Given the description of an element on the screen output the (x, y) to click on. 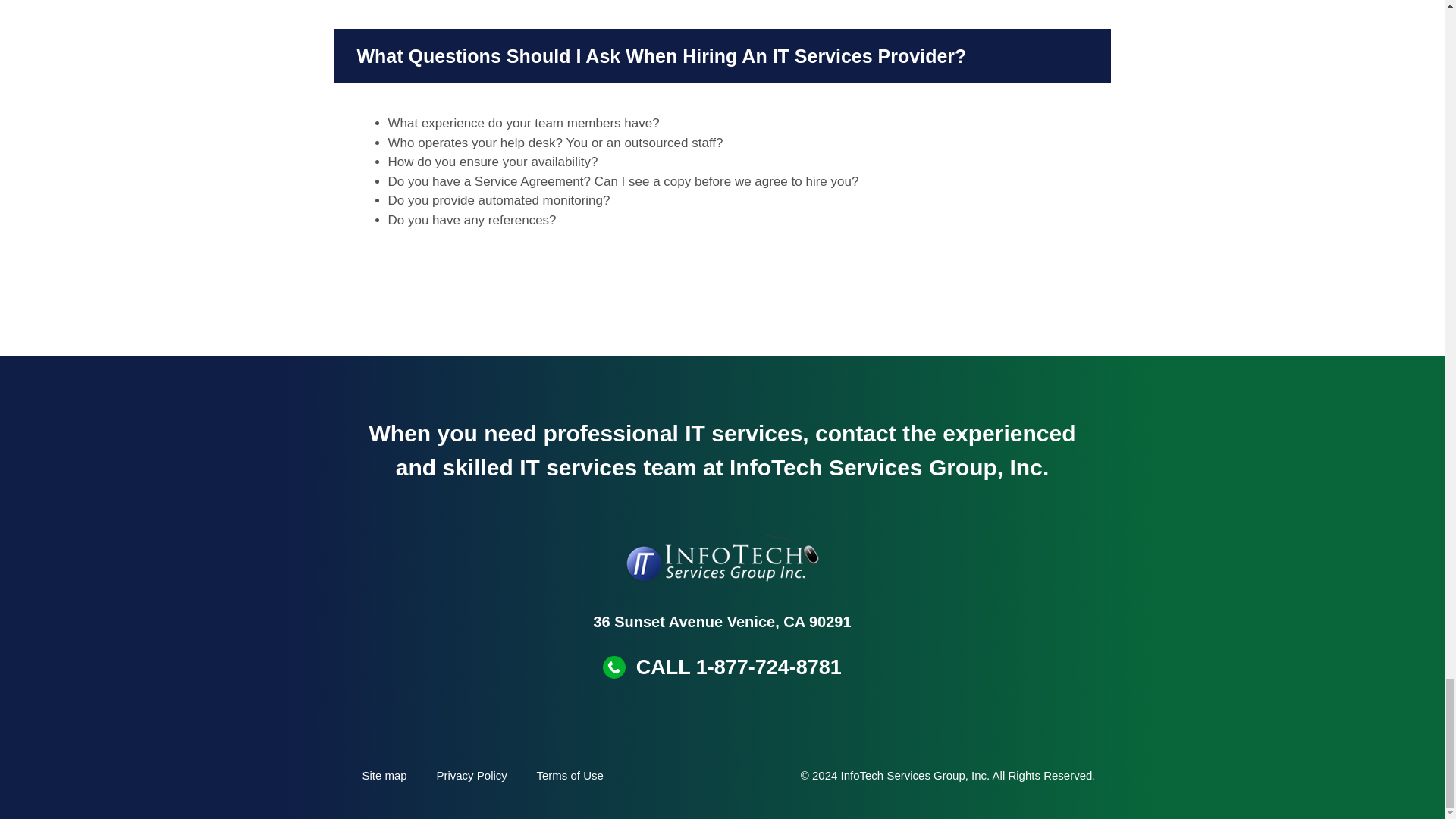
36 Sunset Avenue Venice, CA 90291 (721, 621)
CALL 1-877-724-8781 (738, 667)
Site map (384, 775)
Terms of Use (569, 775)
Privacy Policy (471, 775)
